Given the description of an element on the screen output the (x, y) to click on. 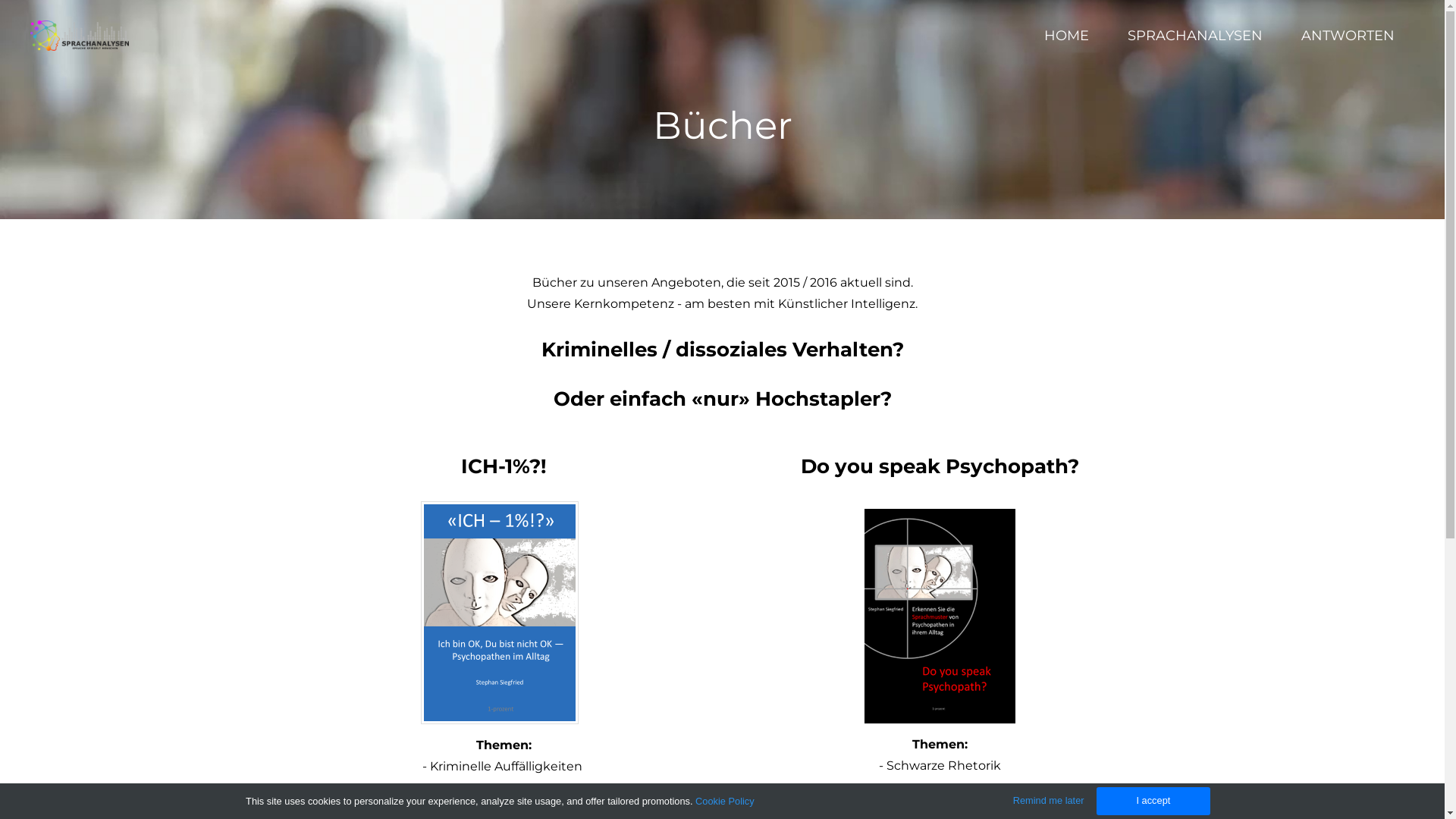
SPRACHANALYSEN Element type: text (1194, 35)
HOME Element type: text (1066, 35)
I accept Element type: text (1153, 801)
Cookie Policy Element type: text (724, 800)
Remind me later Element type: text (1048, 800)
ANTWORTEN Element type: text (1347, 35)
